Given the description of an element on the screen output the (x, y) to click on. 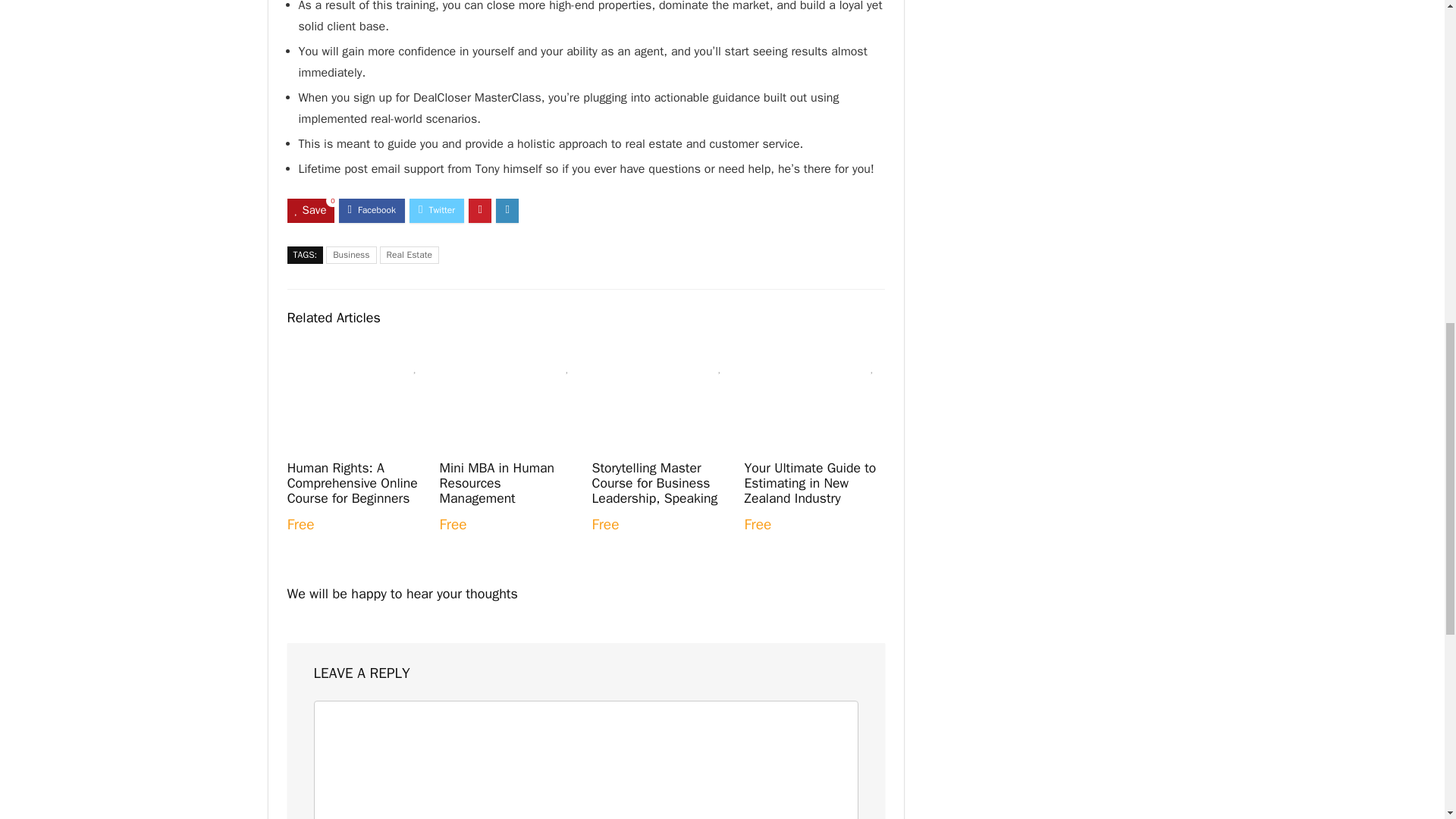
Business (350, 254)
Mini MBA in Human Resources Management (496, 482)
Human Rights: A Comprehensive Online Course for Beginners (351, 482)
Real Estate (409, 254)
Storytelling Master Course for Business Leadership, Speaking (654, 482)
Your Ultimate Guide to Estimating in New Zealand Industry (810, 482)
